Given the description of an element on the screen output the (x, y) to click on. 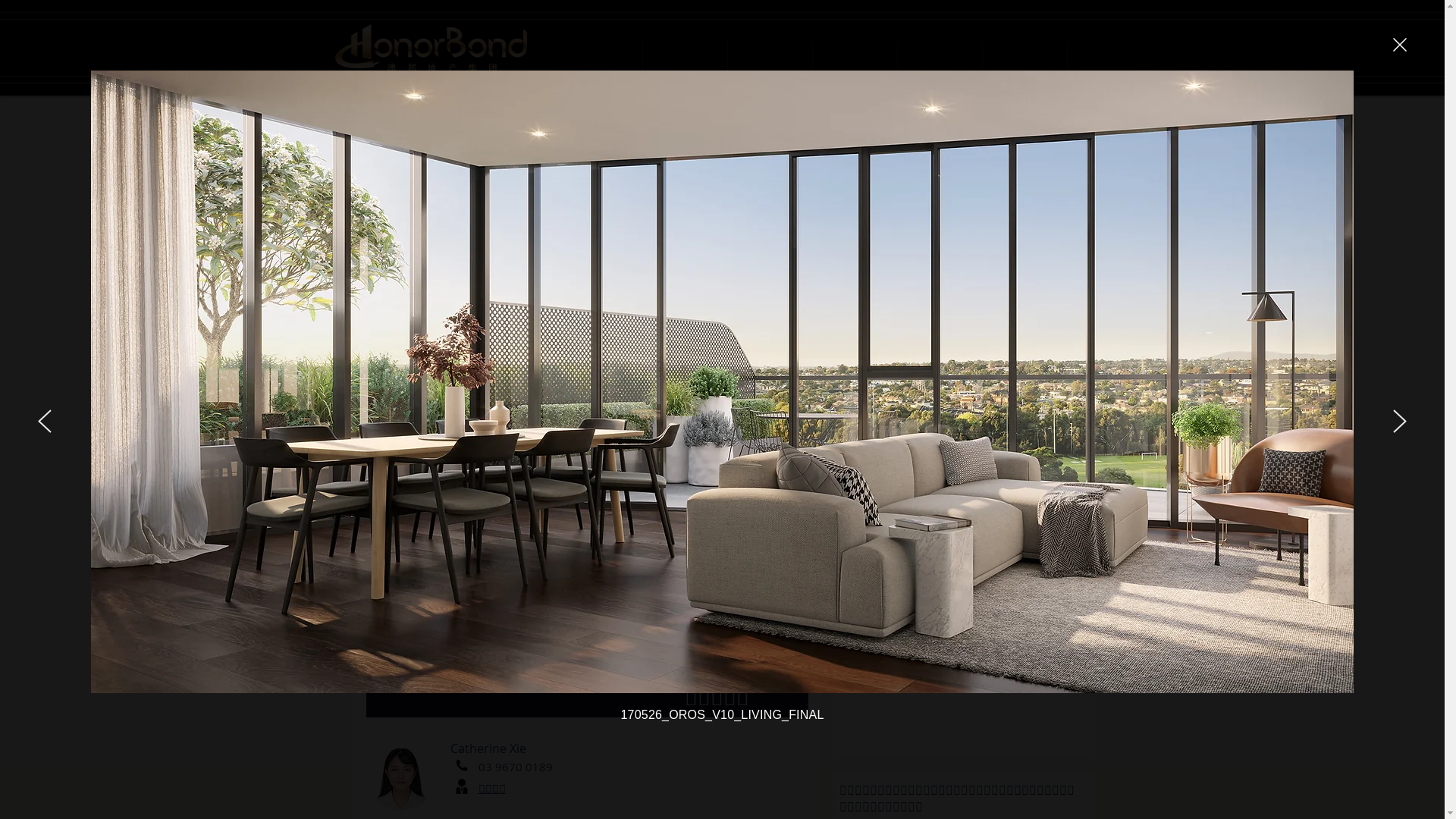
Google Maps Element type: hover (963, 652)
